Given the description of an element on the screen output the (x, y) to click on. 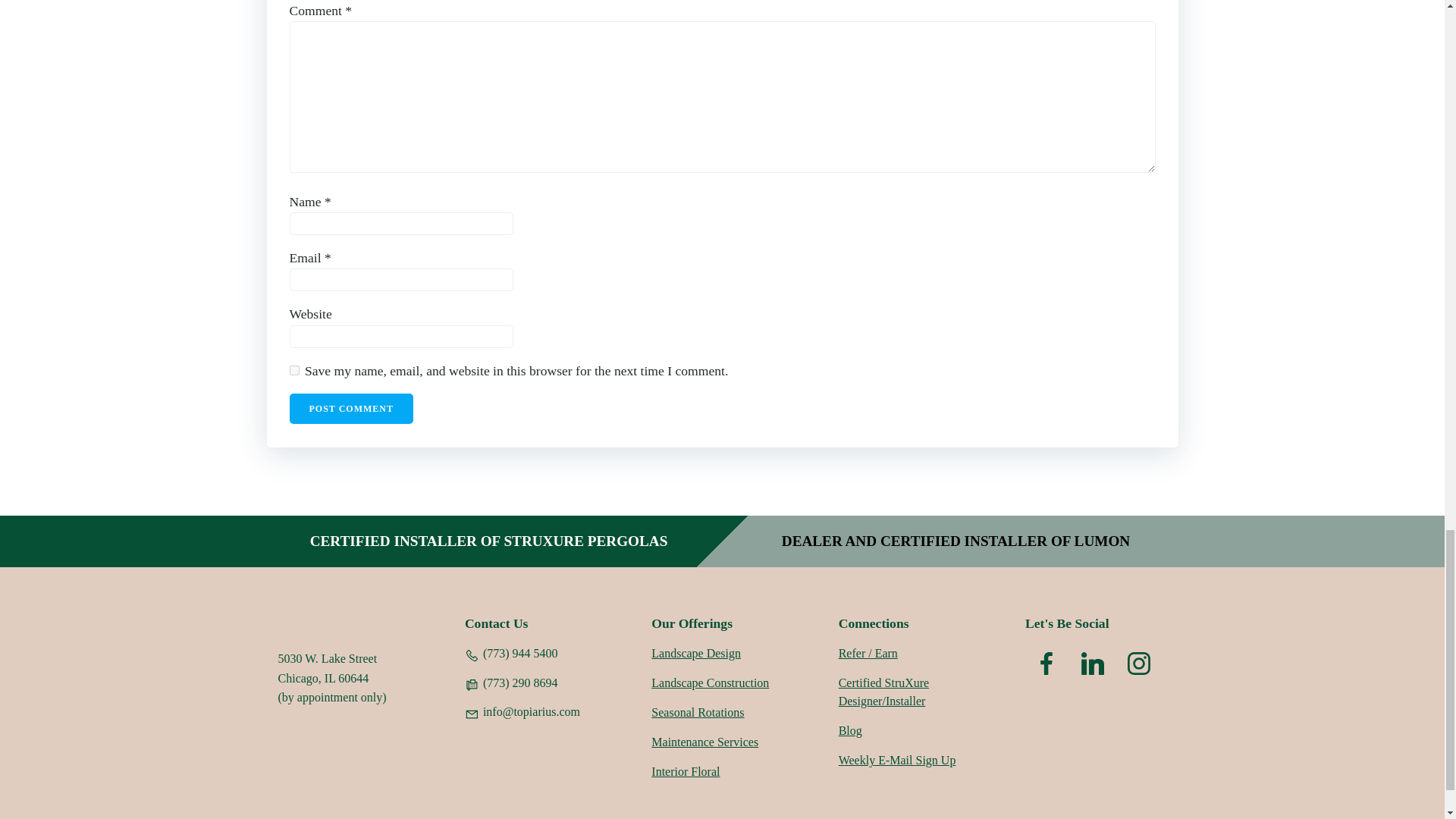
Post Comment (351, 408)
yes (294, 370)
